Given the description of an element on the screen output the (x, y) to click on. 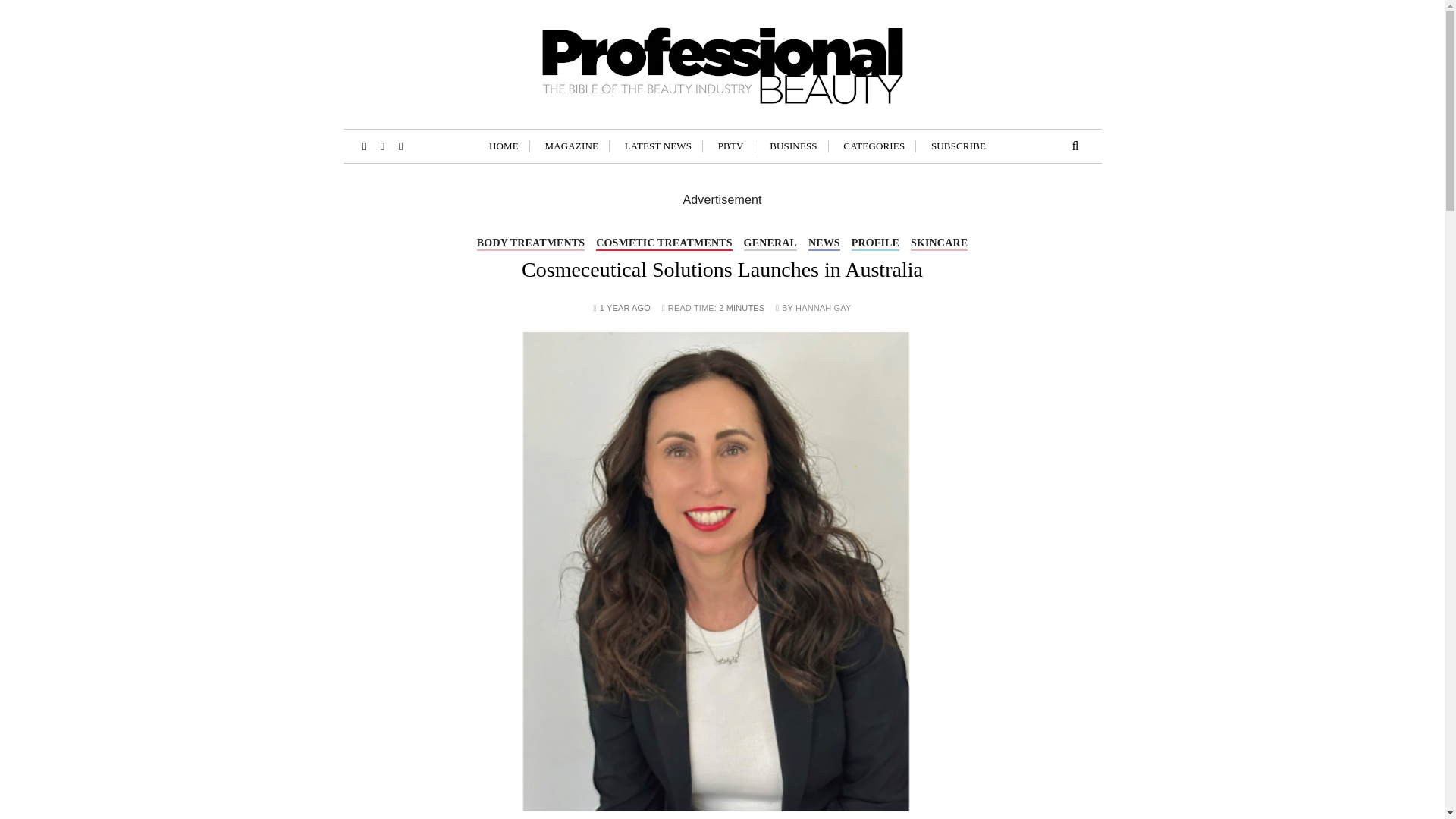
HOME (503, 145)
MAGAZINE (572, 145)
CATEGORIES (873, 145)
SUBSCRIBE (958, 145)
BUSINESS (793, 145)
Professional Beauty (529, 139)
PBTV (730, 145)
LATEST NEWS (657, 145)
